Given the description of an element on the screen output the (x, y) to click on. 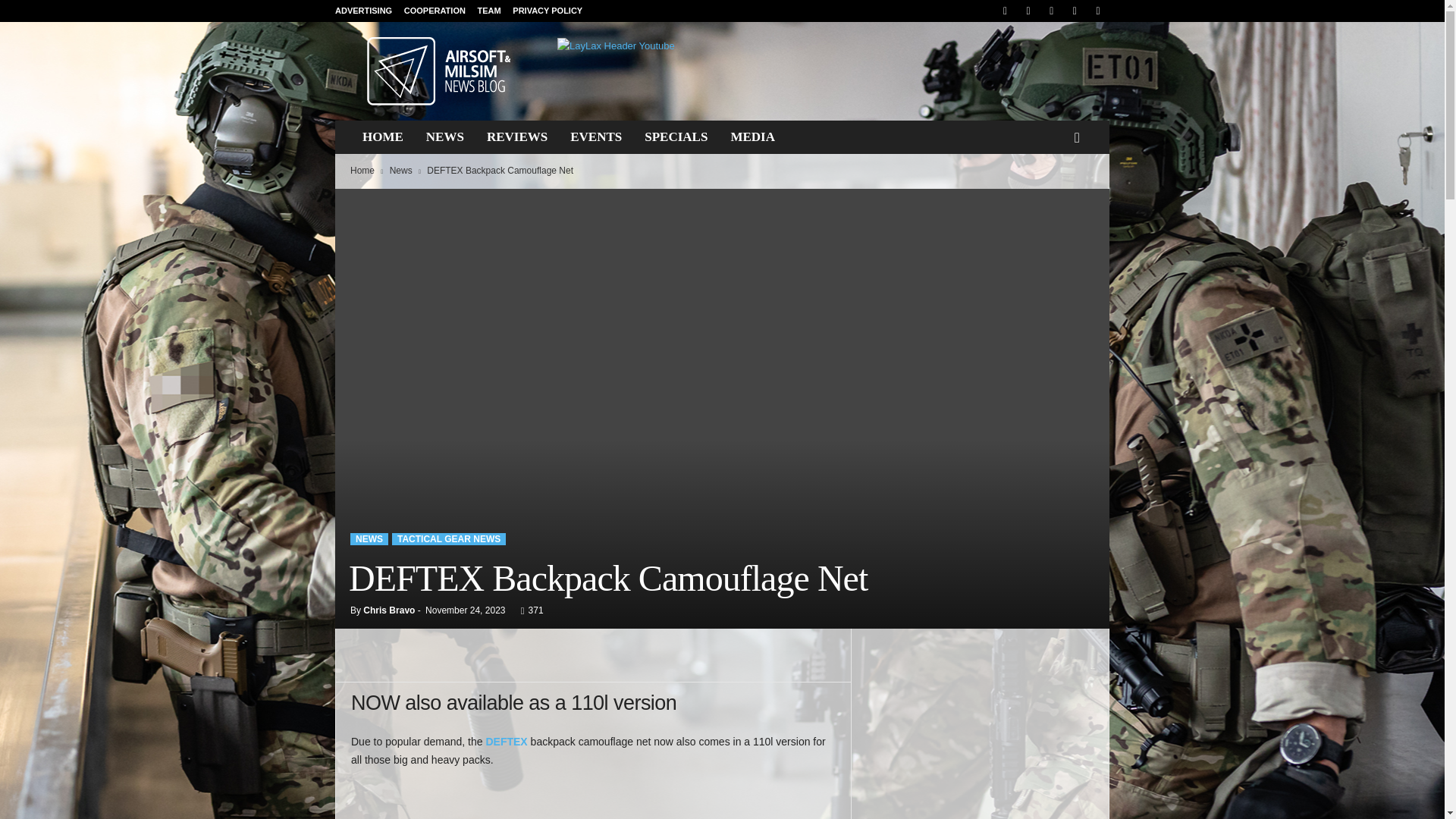
PRIVACY POLICY (547, 10)
ADVERTISING (362, 10)
View all posts in News (401, 170)
TEAM (488, 10)
COOPERATION (434, 10)
